Given the description of an element on the screen output the (x, y) to click on. 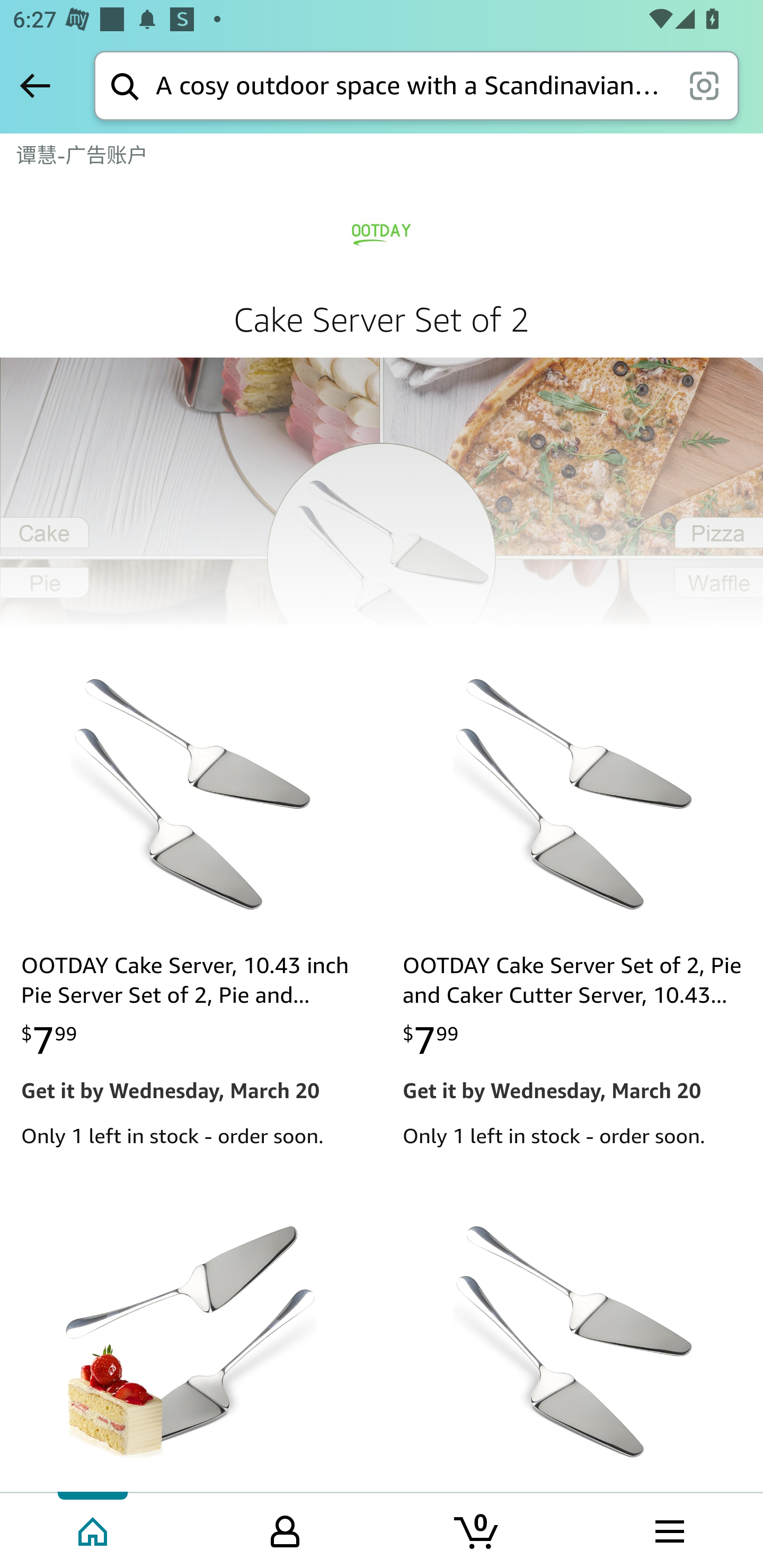
Back (35, 85)
scan it (704, 85)
Home Tab 1 of 4 (94, 1529)
Your Amazon.com Tab 2 of 4 (285, 1529)
Cart 0 item Tab 3 of 4 0 (477, 1529)
Browse menu Tab 4 of 4 (668, 1529)
